Given the description of an element on the screen output the (x, y) to click on. 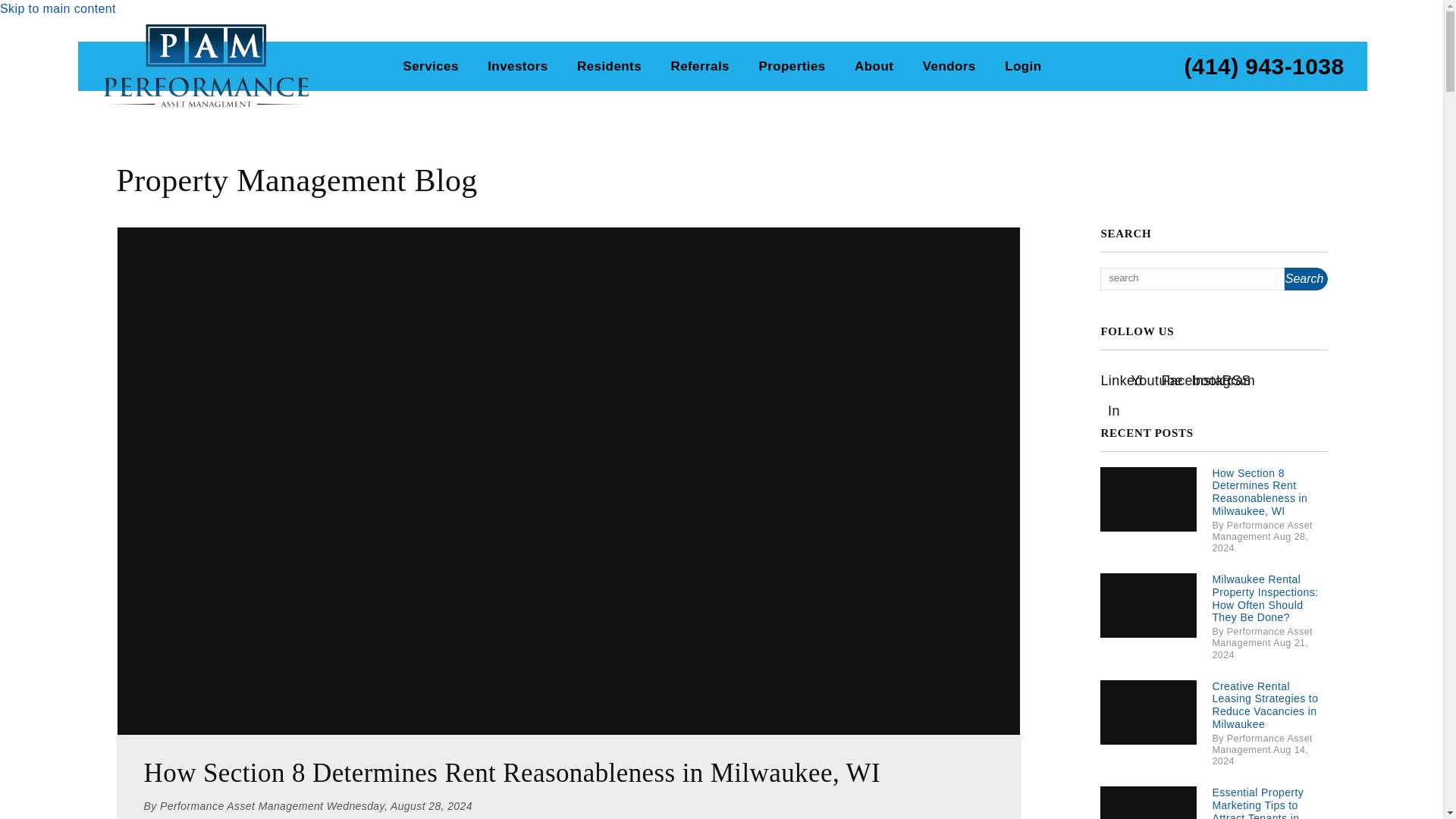
Properties (791, 66)
opens in a new window (1234, 378)
Residents (609, 66)
opens in a new window (1204, 378)
Skip to main content (58, 8)
opens in a new window (1113, 378)
Investors (517, 66)
opens in a new window (1174, 378)
Login (1022, 66)
Vendors (949, 66)
